Given the description of an element on the screen output the (x, y) to click on. 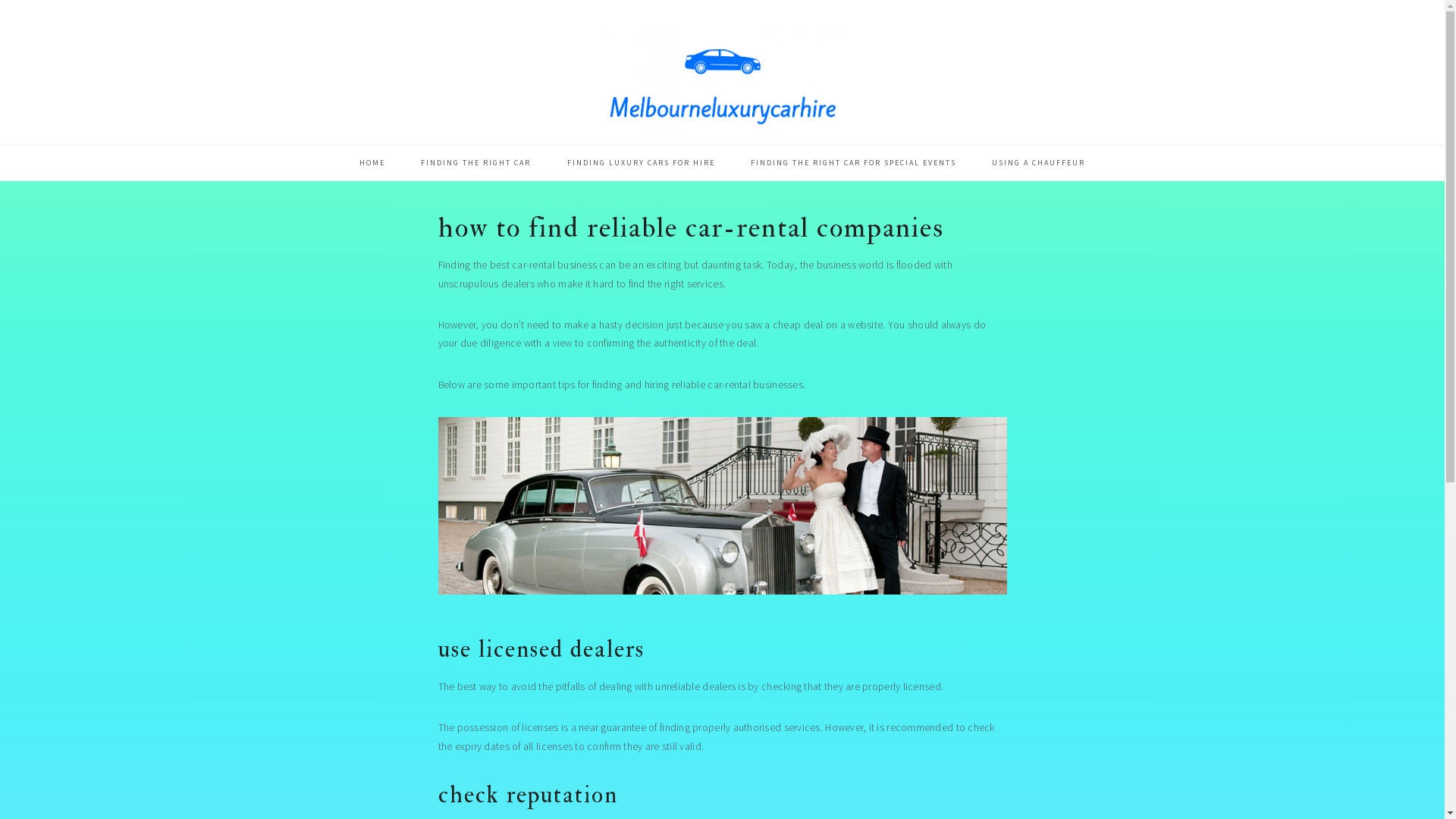
USING A CHAUFFEUR Element type: text (1038, 162)
melbourneluxurycarhire.com.au Element type: text (721, 80)
Skip to main content Element type: text (0, 0)
FINDING LUXURY CARS FOR HIRE Element type: text (640, 162)
FINDING THE RIGHT CAR FOR SPECIAL EVENTS Element type: text (853, 162)
FINDING THE RIGHT CAR Element type: text (475, 162)
HOME Element type: text (372, 162)
